Given the description of an element on the screen output the (x, y) to click on. 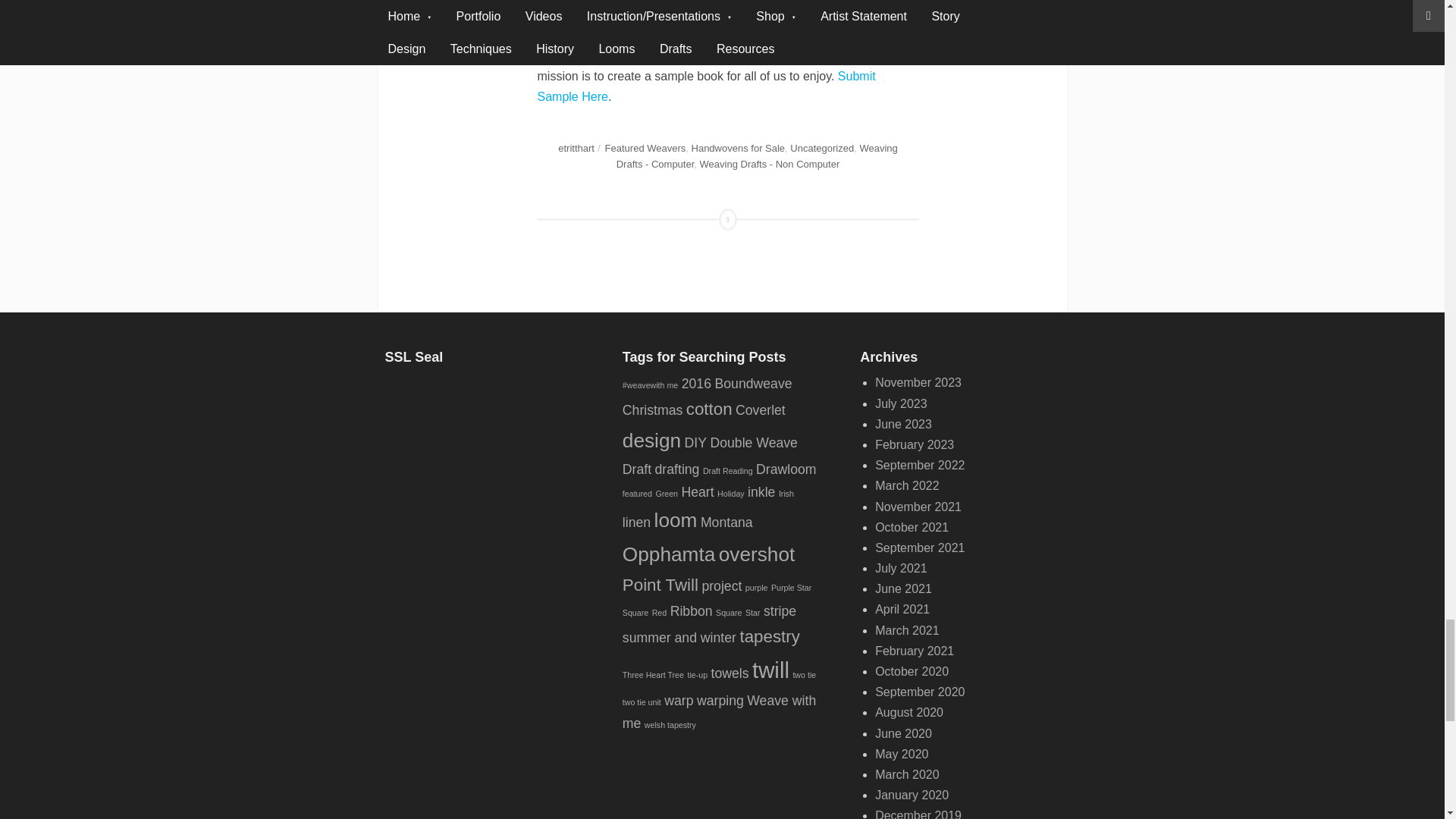
Submit a Sample of a Draft (706, 86)
